Given the description of an element on the screen output the (x, y) to click on. 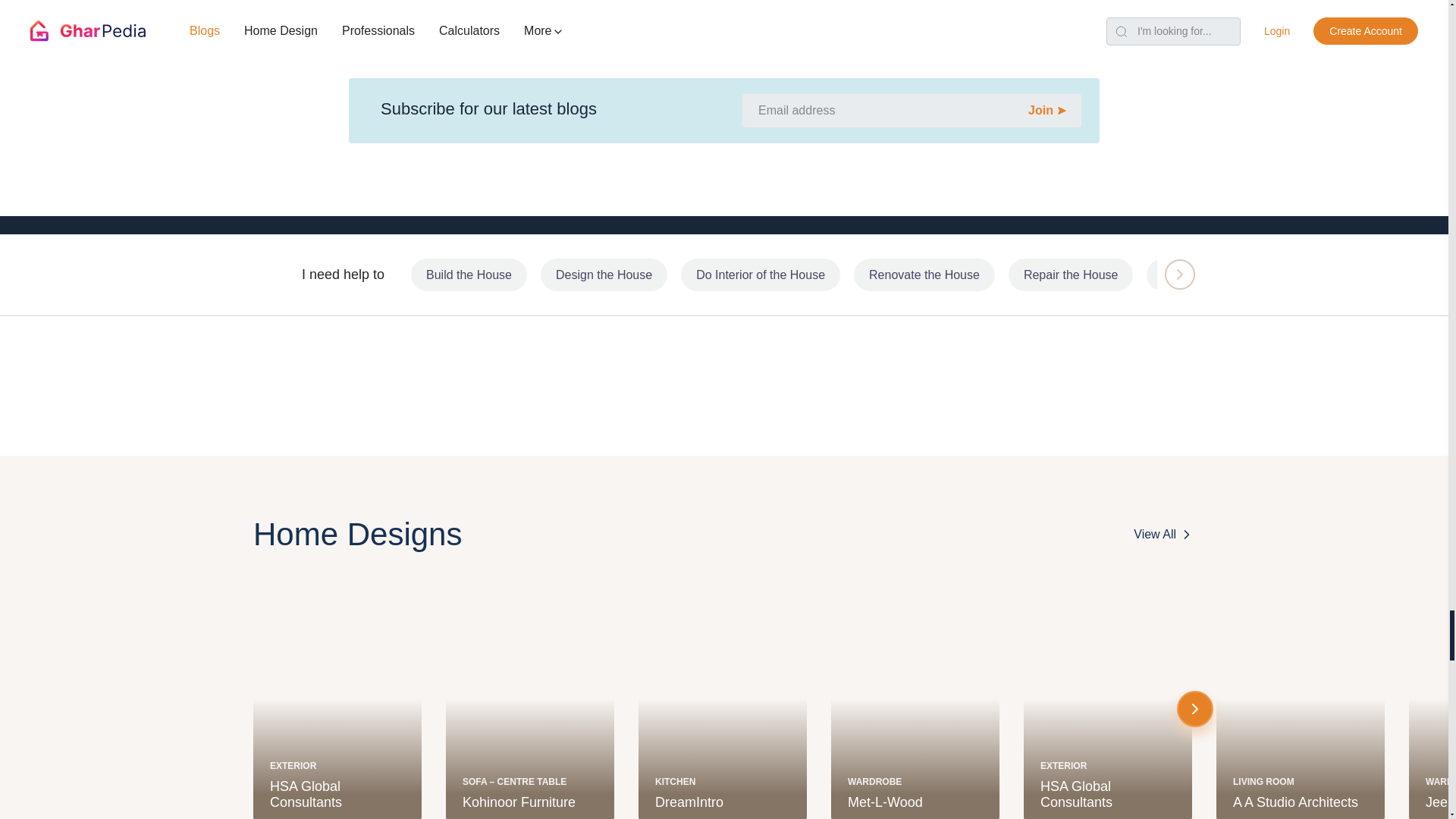
Facebook (615, 48)
